Given the description of an element on the screen output the (x, y) to click on. 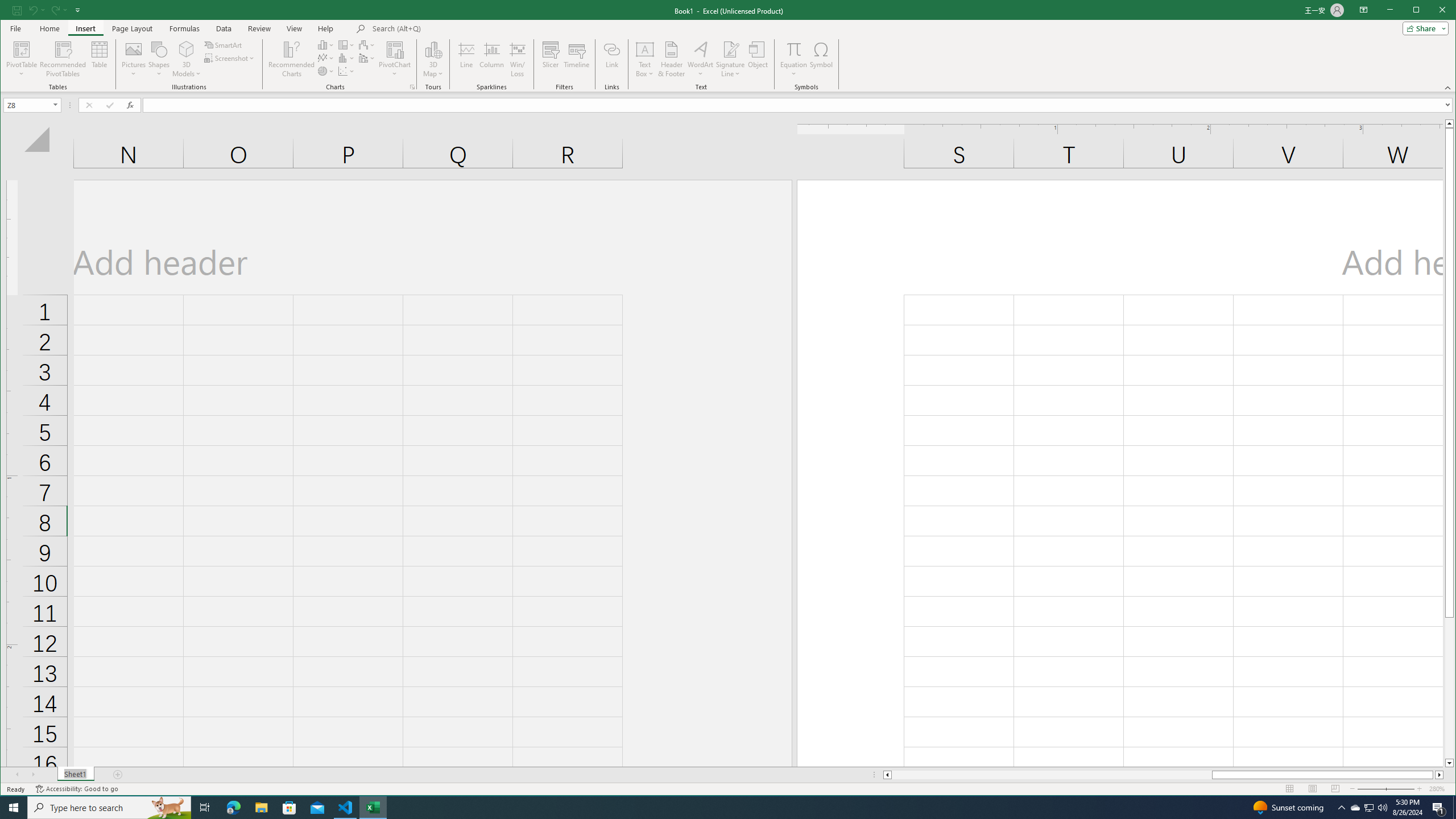
Microsoft Store (289, 807)
Header & Footer... (670, 59)
Maximize (1432, 11)
Insert Pie or Doughnut Chart (325, 70)
Insert Hierarchy Chart (346, 44)
Symbol... (821, 59)
Signature Line (729, 59)
Start (13, 807)
